Given the description of an element on the screen output the (x, y) to click on. 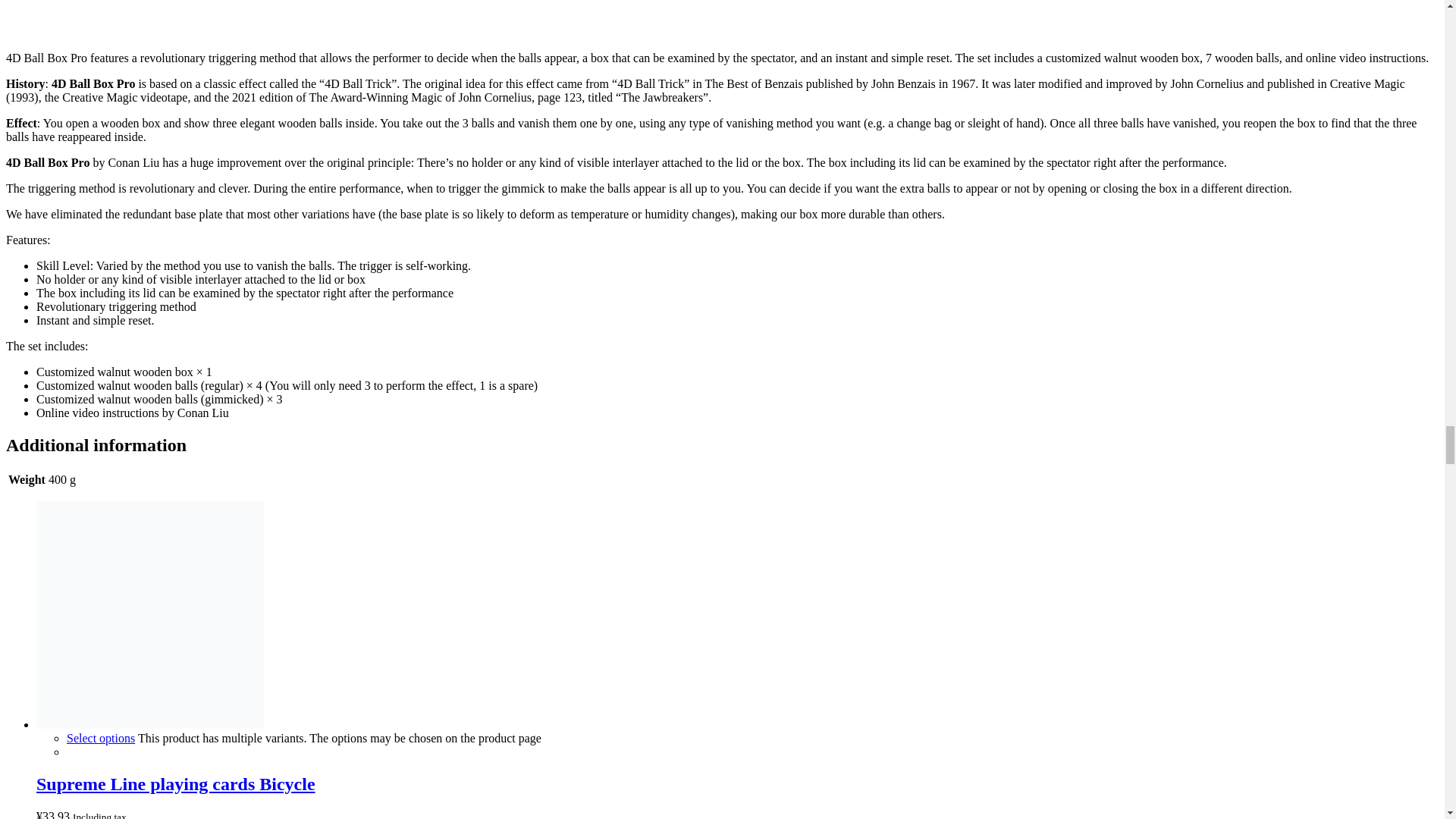
4D ball box pro par TCC (308, 18)
